Given the description of an element on the screen output the (x, y) to click on. 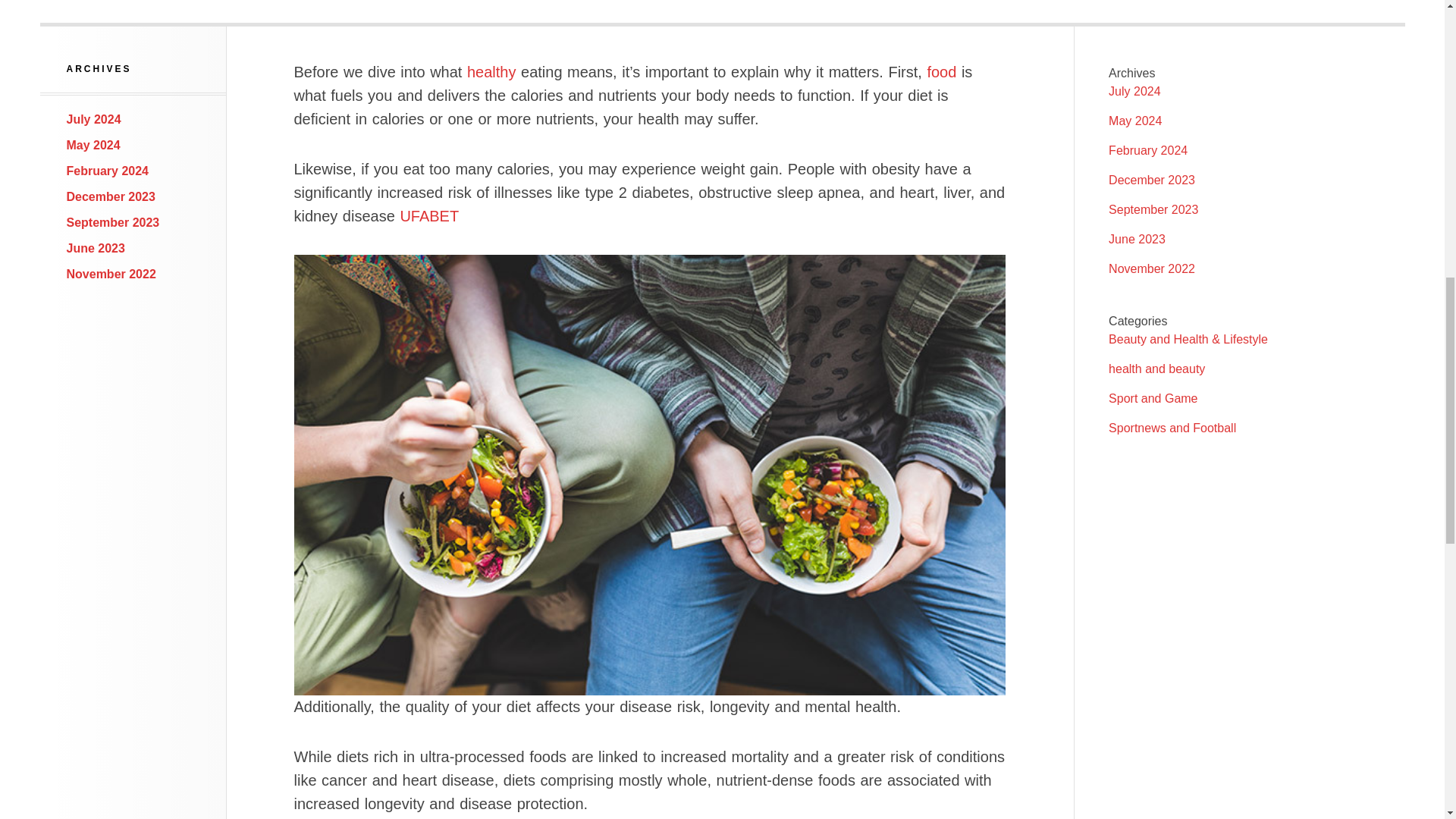
healthy (491, 71)
December 2023 (110, 196)
July 2024 (93, 119)
February 2024 (107, 170)
September 2023 (113, 222)
November 2022 (110, 273)
June 2023 (95, 247)
food (941, 71)
May 2024 (93, 144)
UFABET (428, 216)
